Given the description of an element on the screen output the (x, y) to click on. 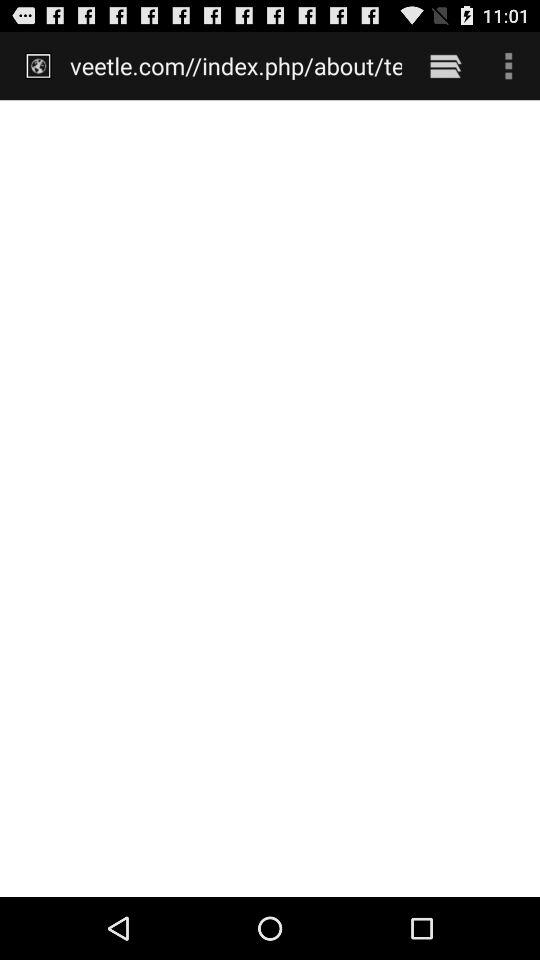
click item next to veetle com index item (444, 65)
